Given the description of an element on the screen output the (x, y) to click on. 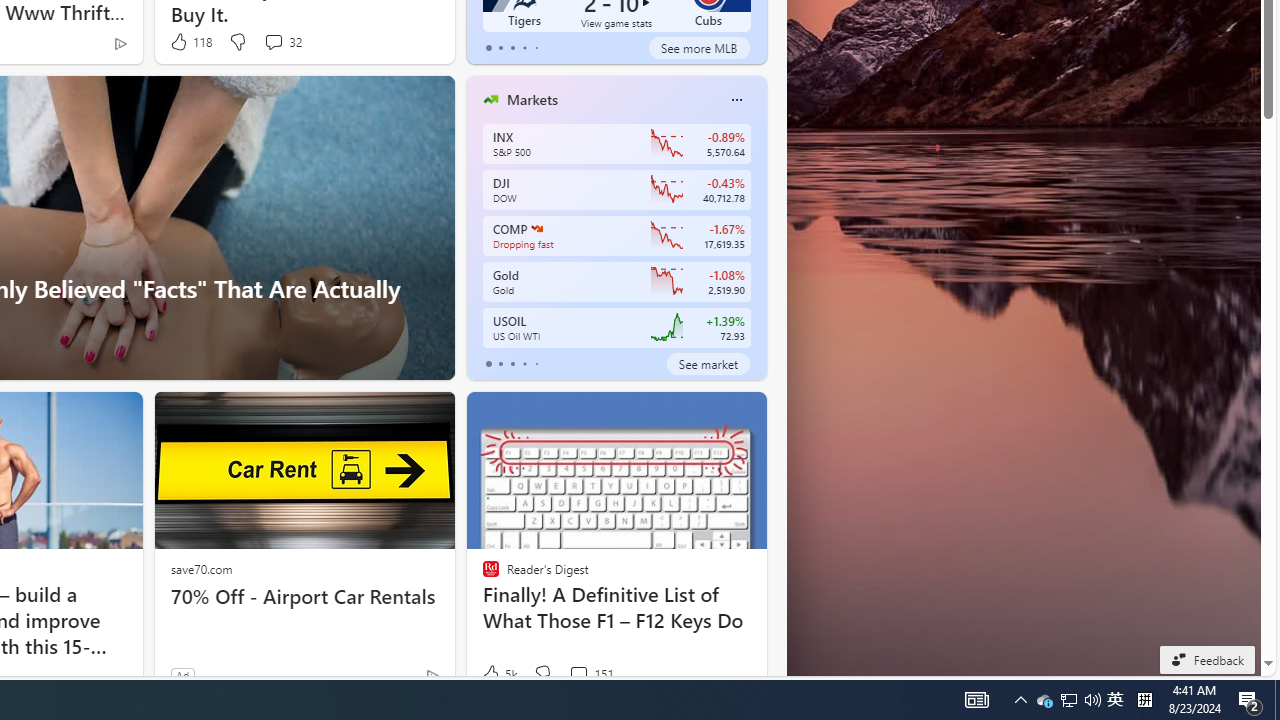
tab-4 (535, 363)
tab-2 (511, 363)
save70.com (201, 568)
tab-3 (524, 363)
View comments 32 Comment (281, 42)
118 Like (190, 42)
See more MLB (698, 47)
